Given the description of an element on the screen output the (x, y) to click on. 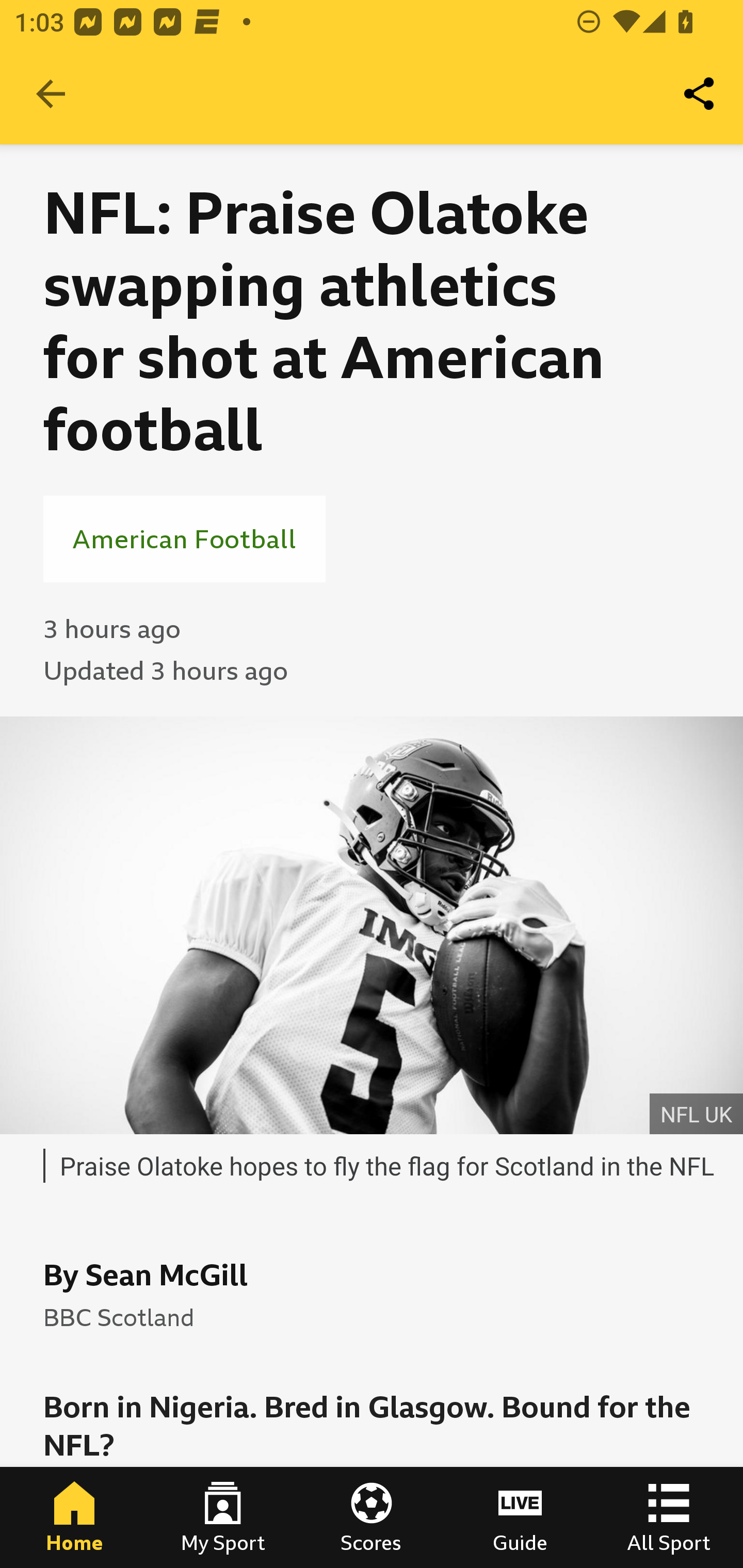
Navigate up (50, 93)
Share (699, 93)
American Football (184, 538)
My Sport (222, 1517)
Scores (371, 1517)
Guide (519, 1517)
All Sport (668, 1517)
